Given the description of an element on the screen output the (x, y) to click on. 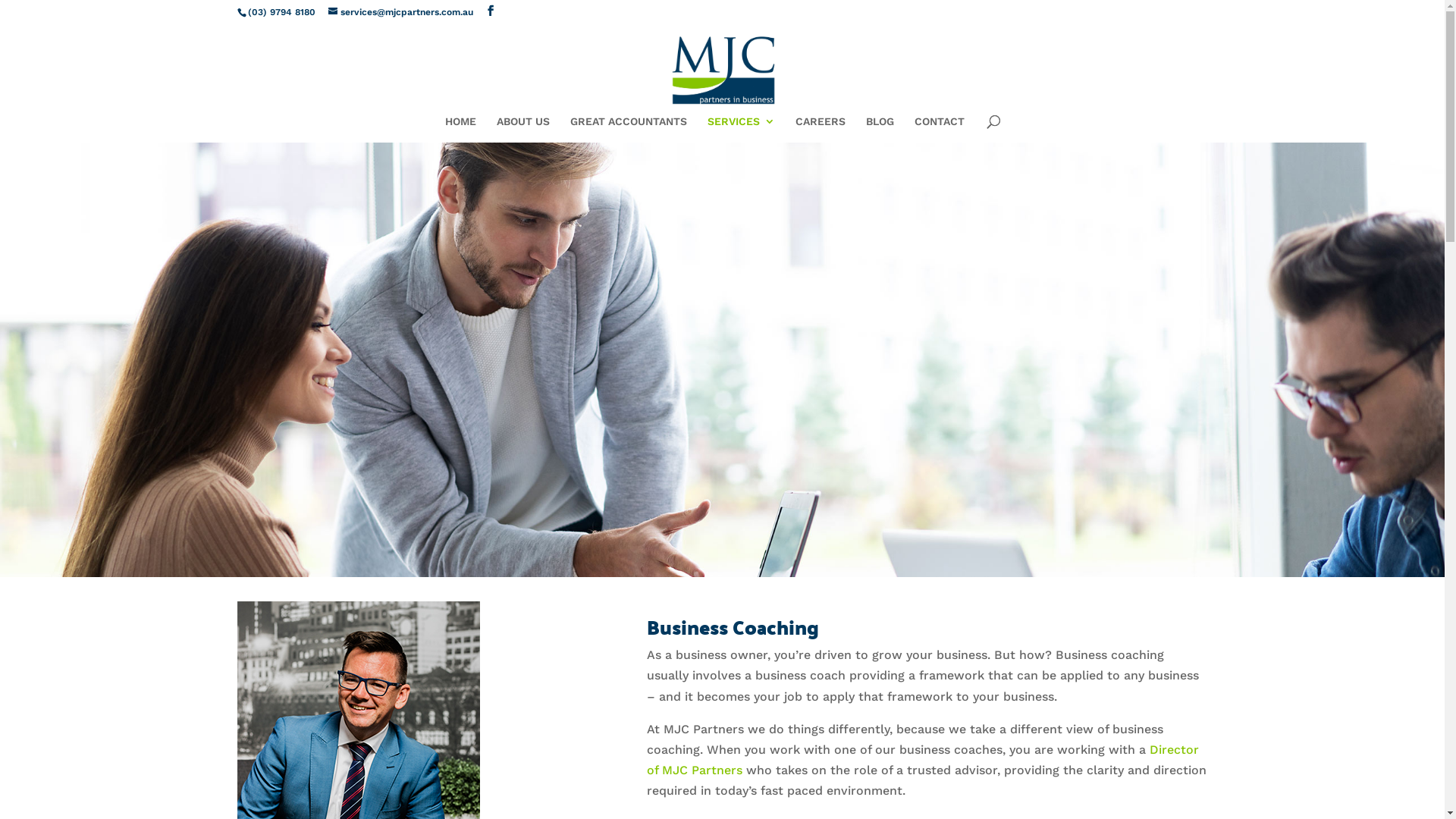
CONTACT Element type: text (939, 129)
HOME Element type: text (459, 129)
BLOG Element type: text (880, 129)
GREAT ACCOUNTANTS Element type: text (628, 129)
ABOUT US Element type: text (522, 129)
Director of MJC Partners Element type: text (922, 759)
SERVICES Element type: text (740, 129)
CAREERS Element type: text (819, 129)
services@mjcpartners.com.au Element type: text (399, 11)
